Given the description of an element on the screen output the (x, y) to click on. 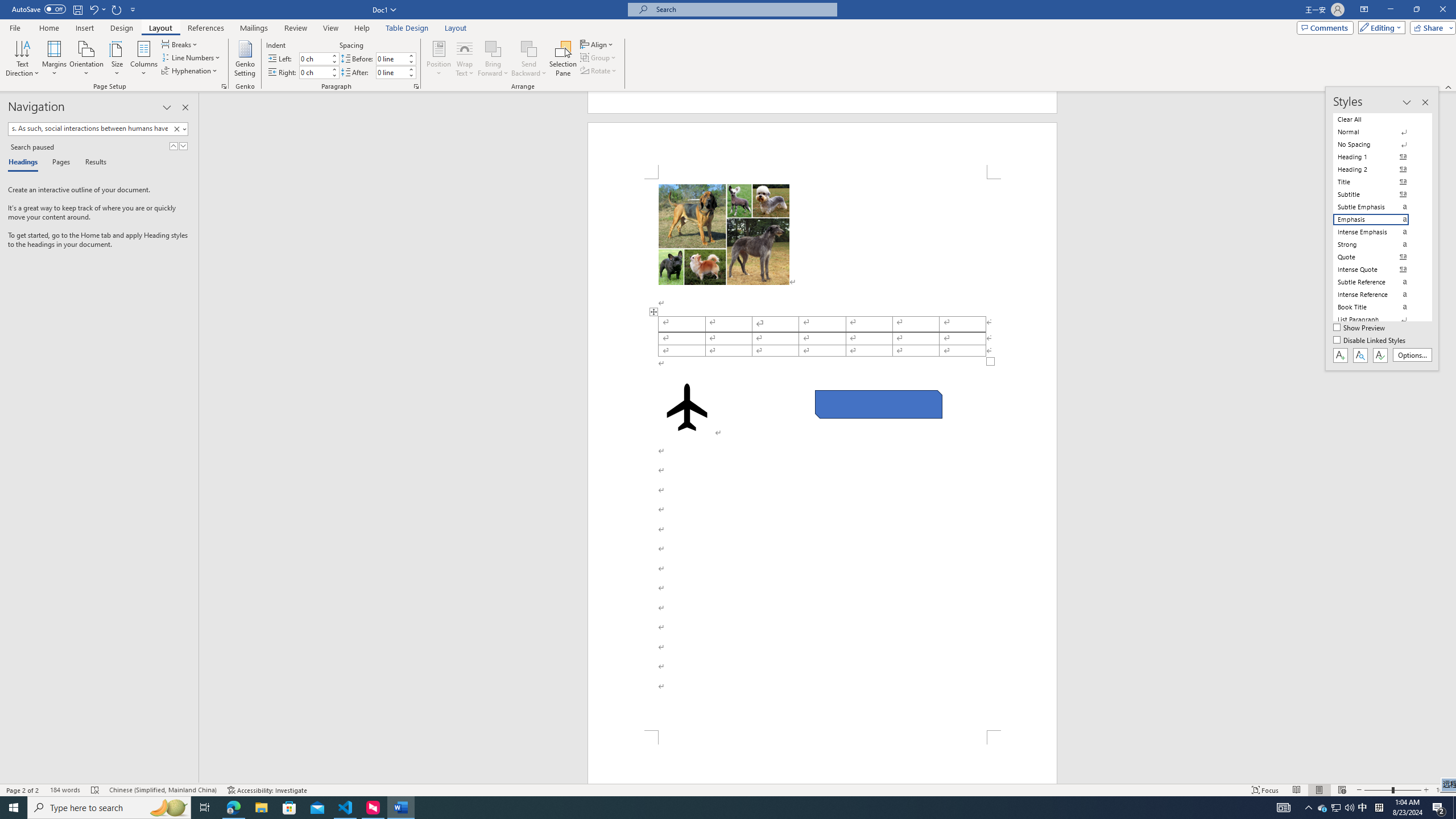
Undo Style (96, 9)
Hyphenation (189, 69)
Word Count 184 words (64, 790)
Rotate (599, 69)
Options... (1412, 354)
Clear All (1377, 119)
Bring Forward (492, 58)
Disable Linked Styles (1370, 340)
